Given the description of an element on the screen output the (x, y) to click on. 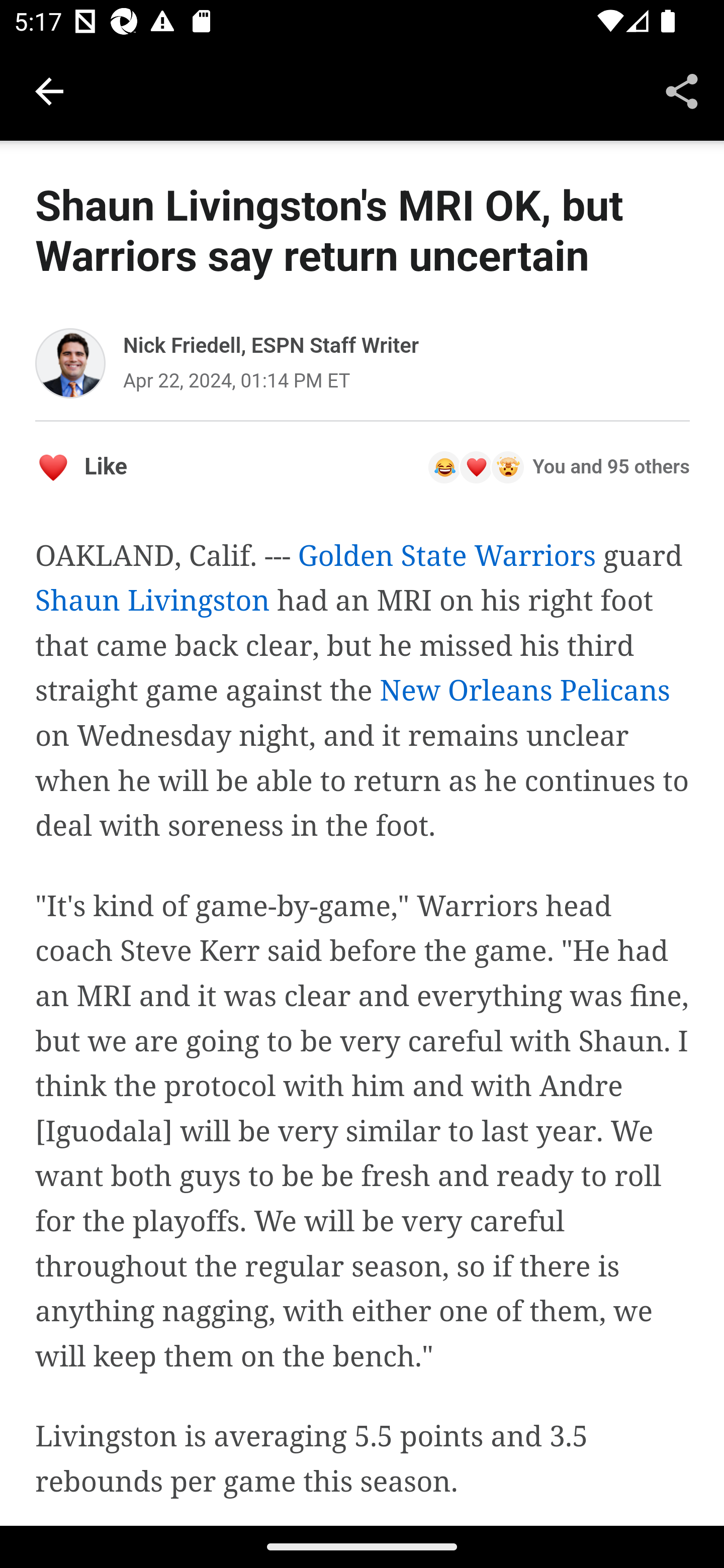
Navigate up (49, 91)
Share (681, 90)
Like (81, 466)
Reaction count (558, 466)
Golden State Warriors (446, 555)
Shaun Livingston (152, 601)
New Orleans Pelicans (524, 690)
